Given the description of an element on the screen output the (x, y) to click on. 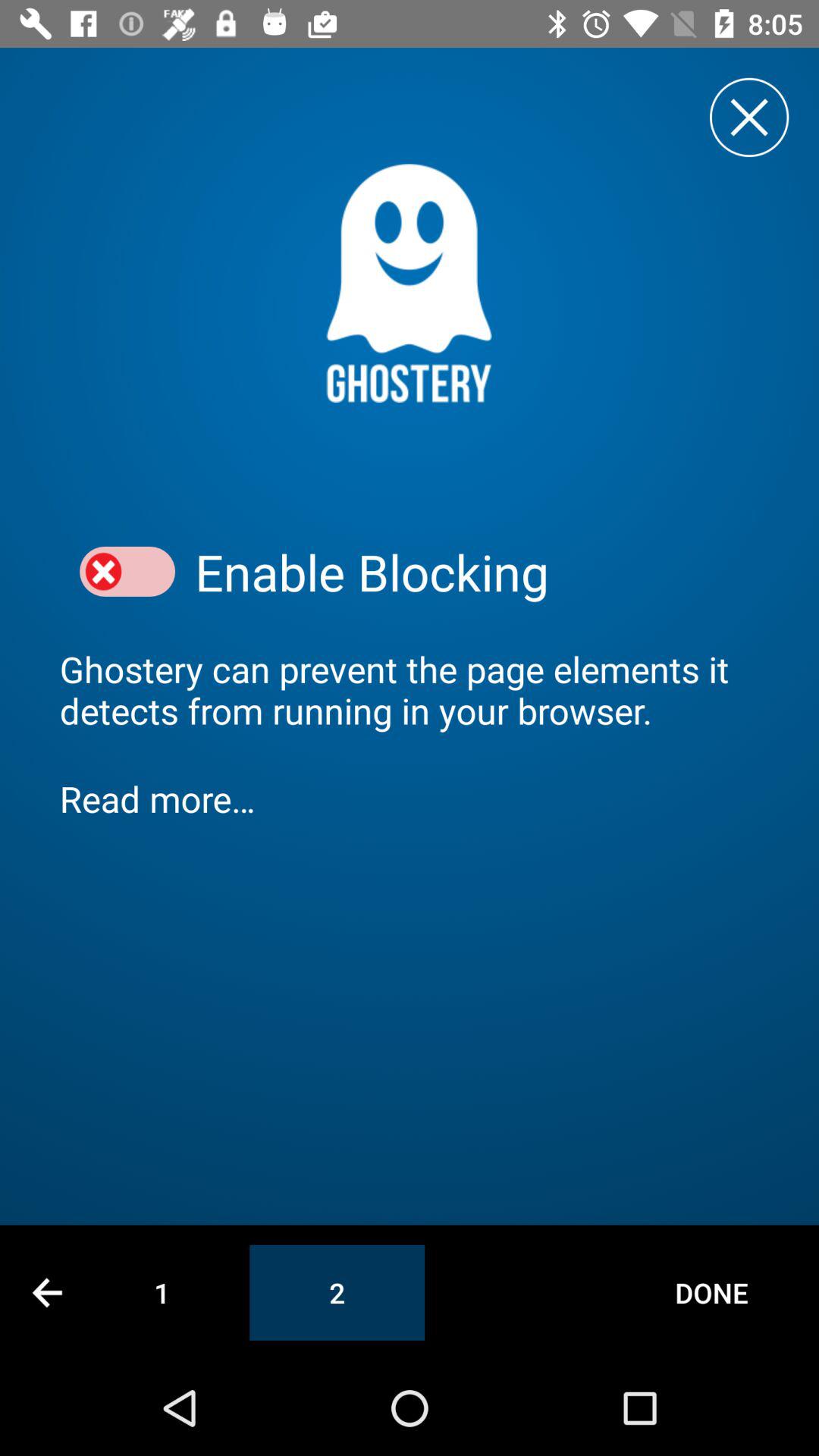
press the 1 item (161, 1292)
